Given the description of an element on the screen output the (x, y) to click on. 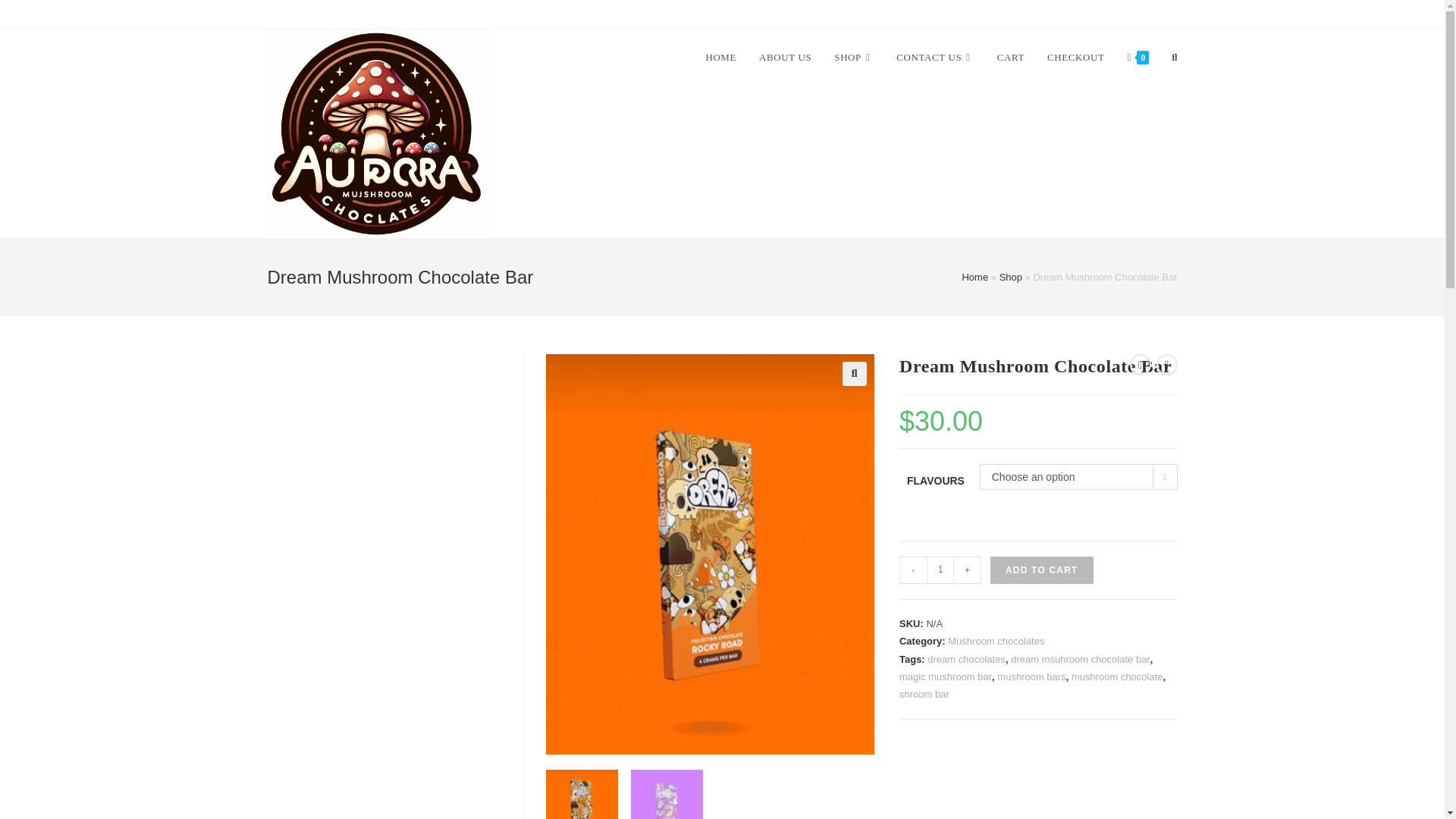
Home (974, 276)
CHECKOUT (1075, 57)
HOME (721, 57)
SHOP (853, 57)
0 (1138, 57)
CONTACT US (935, 57)
Shop (1010, 276)
WhatsApp-Image-2023-06-04-at-5.20.26-PM-3 (1038, 518)
Qty (939, 569)
ABOUT US (785, 57)
1 (939, 569)
CART (1010, 57)
Dream Mushroom Chocolate Bar (710, 553)
